Given the description of an element on the screen output the (x, y) to click on. 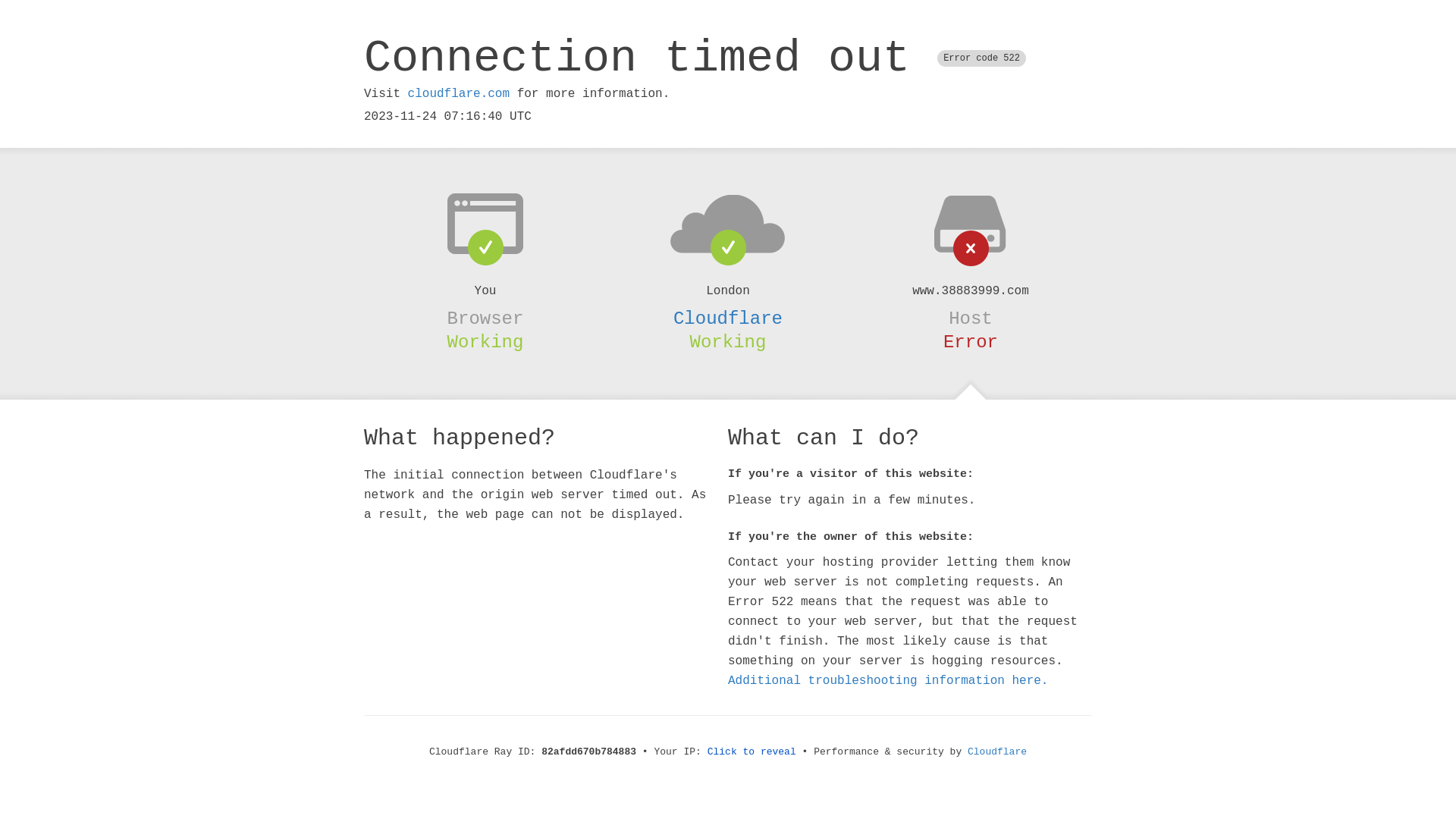
Cloudflare Element type: text (727, 318)
Additional troubleshooting information here. Element type: text (888, 680)
Click to reveal Element type: text (751, 751)
cloudflare.com Element type: text (458, 93)
Cloudflare Element type: text (996, 751)
